Given the description of an element on the screen output the (x, y) to click on. 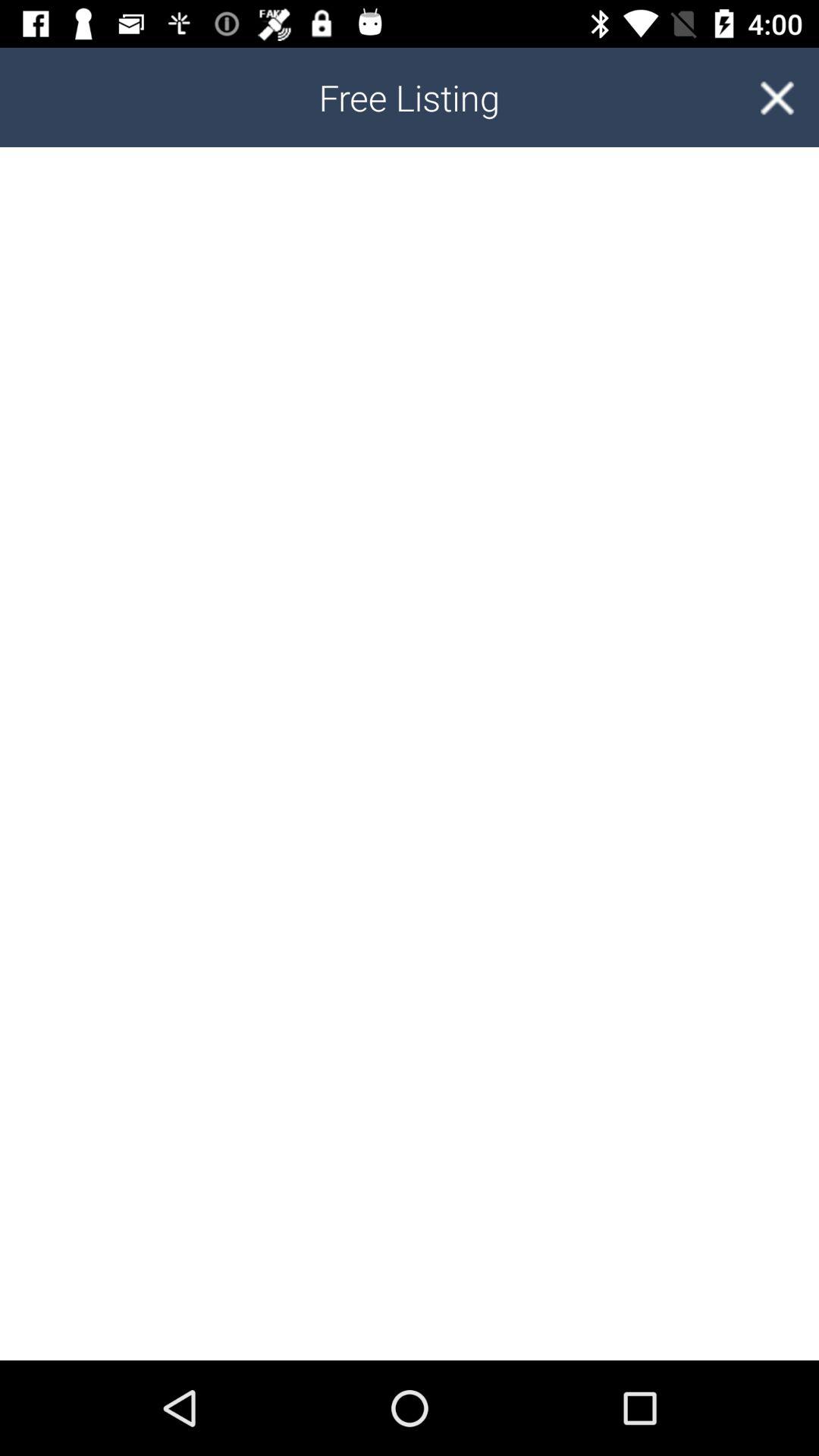
choose the item next to free listing (776, 97)
